Given the description of an element on the screen output the (x, y) to click on. 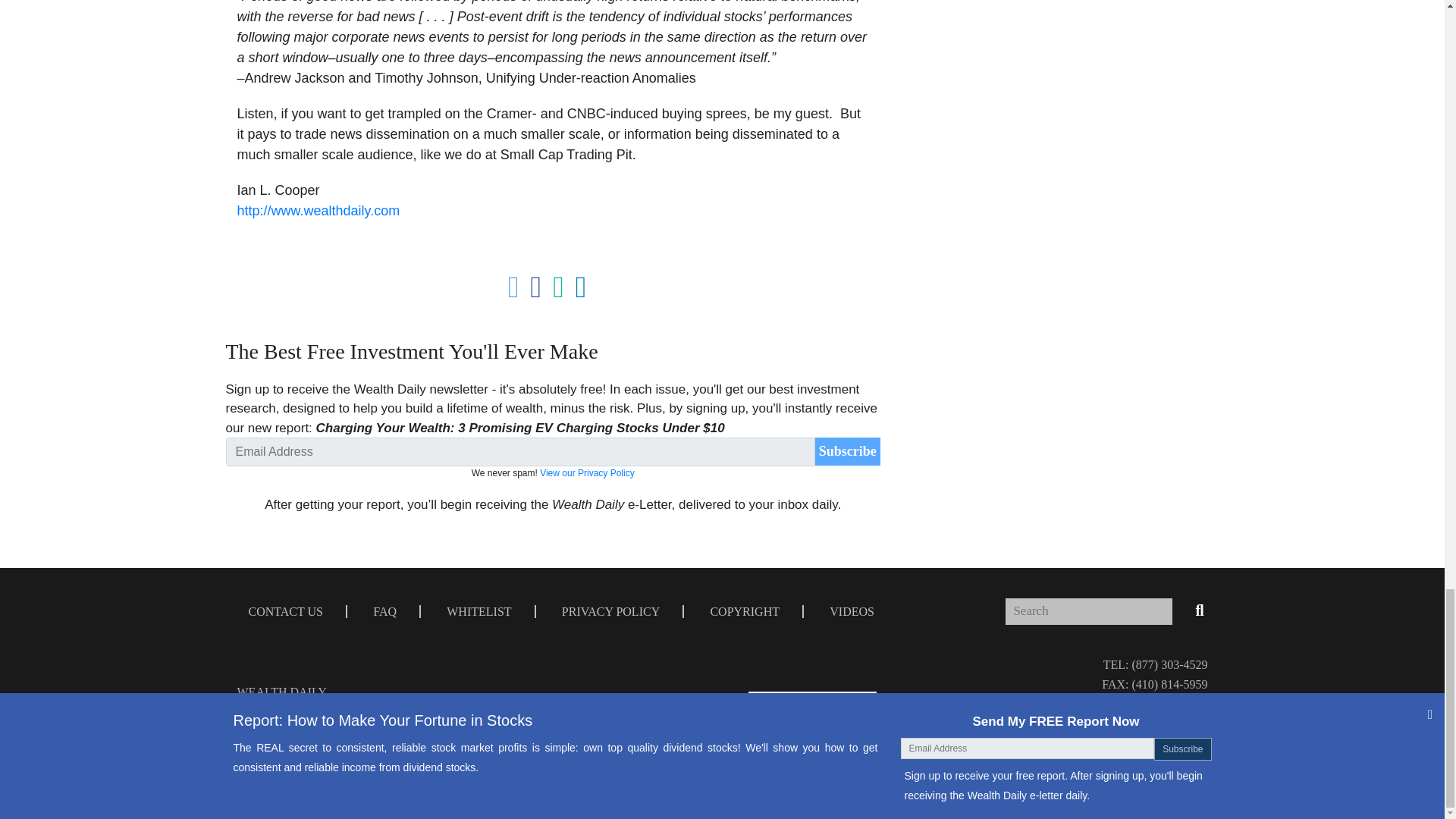
View our Privacy Policy (587, 472)
Subscribe (847, 451)
